Given the description of an element on the screen output the (x, y) to click on. 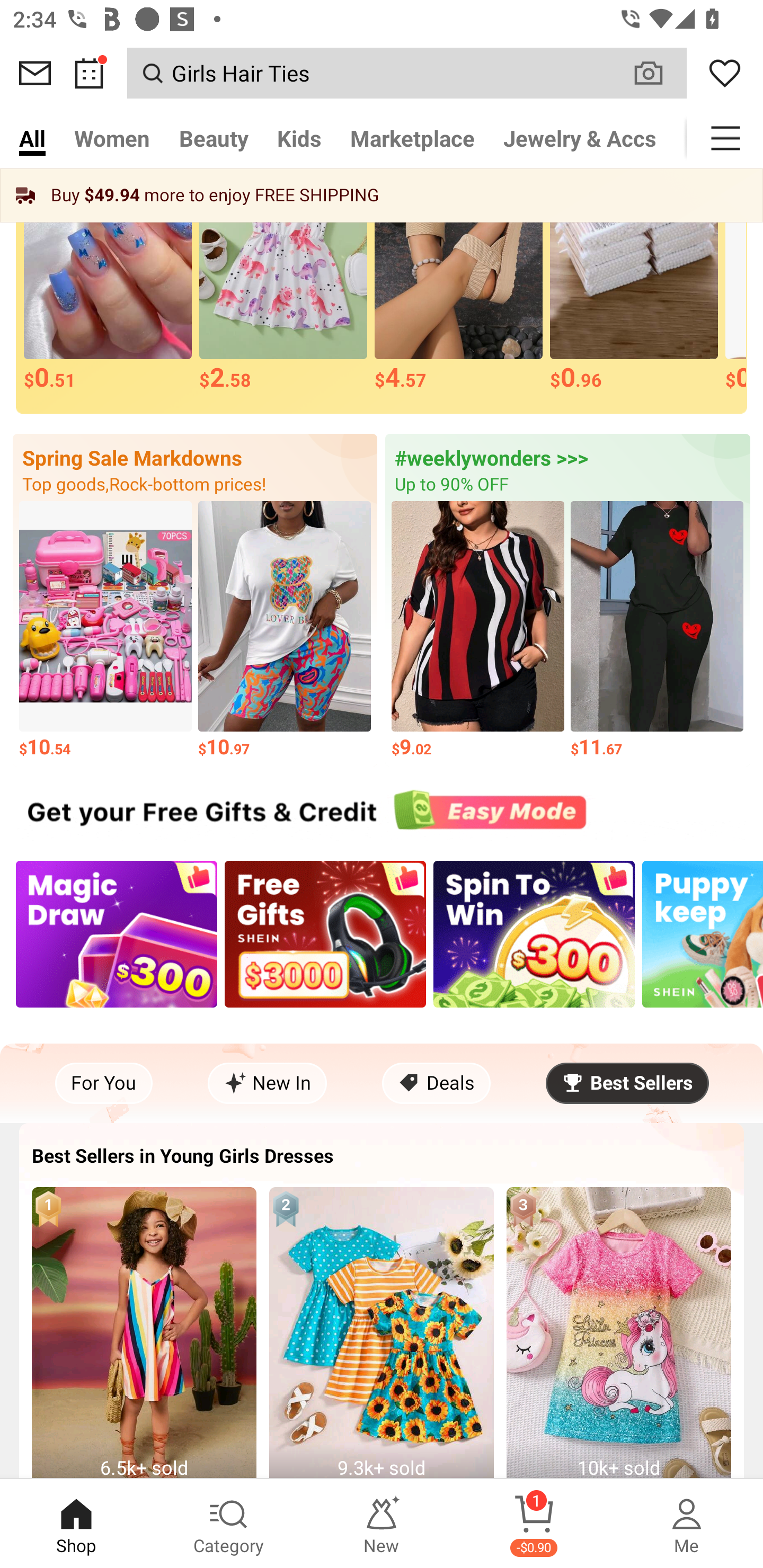
Wishlist (724, 72)
VISUAL SEARCH (657, 72)
All (31, 137)
Women (111, 137)
Beauty (213, 137)
Kids (298, 137)
Marketplace (412, 137)
Jewelry & Accs (580, 137)
Buy $49.94 more to enjoy FREE SHIPPING (381, 194)
$10.54 Price $10.54 (105, 630)
$10.97 Price $10.97 (284, 630)
$9.02 Price $9.02 (477, 630)
$11.67 Price $11.67 (656, 630)
For You (103, 1083)
New In (266, 1083)
Deals (436, 1083)
Category (228, 1523)
New (381, 1523)
Cart 1 -$0.90 (533, 1523)
Me (686, 1523)
